Given the description of an element on the screen output the (x, y) to click on. 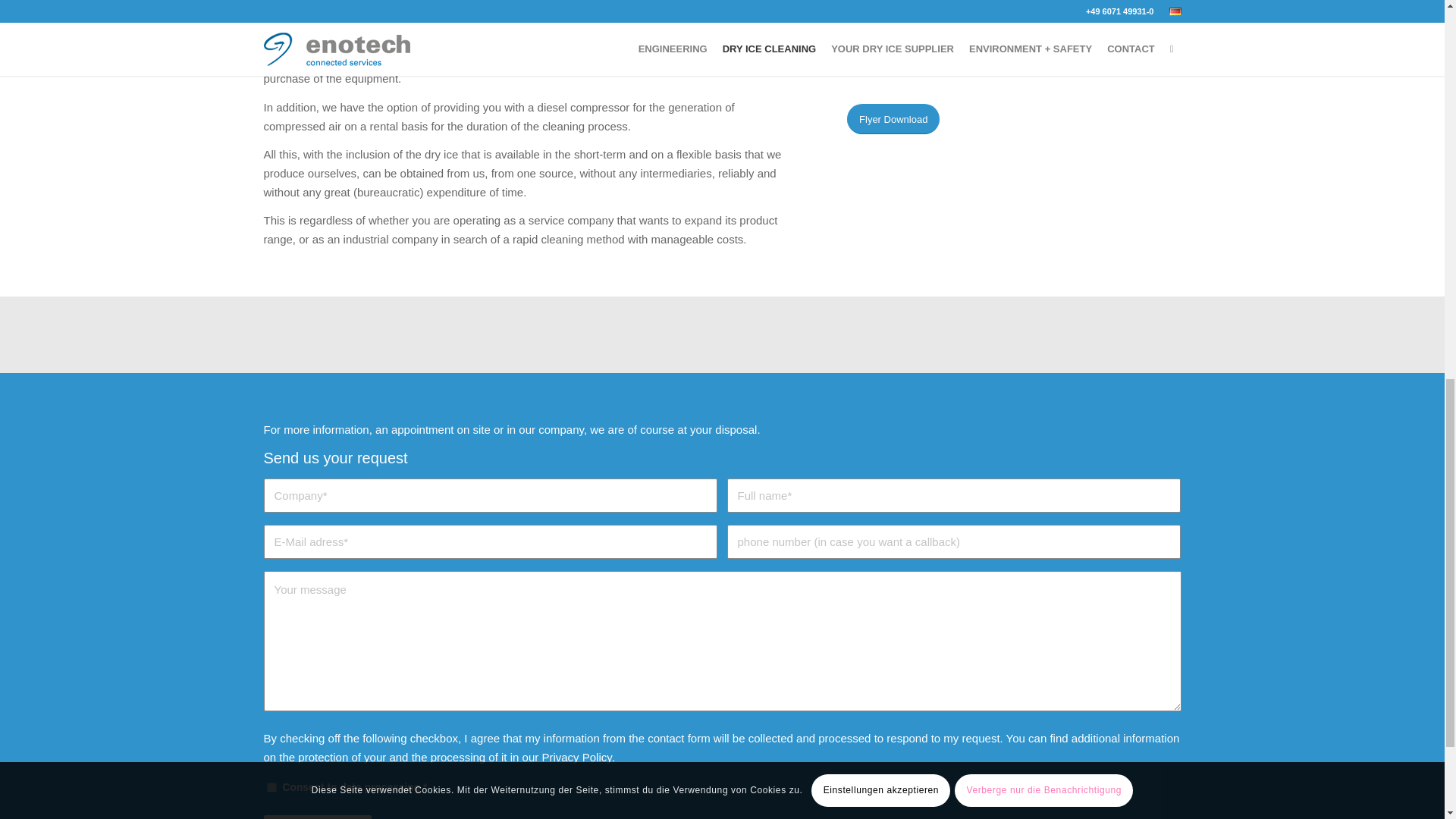
send (317, 816)
Privacy Policy (576, 757)
true (271, 787)
send (317, 816)
Flyer Download (893, 119)
